Given the description of an element on the screen output the (x, y) to click on. 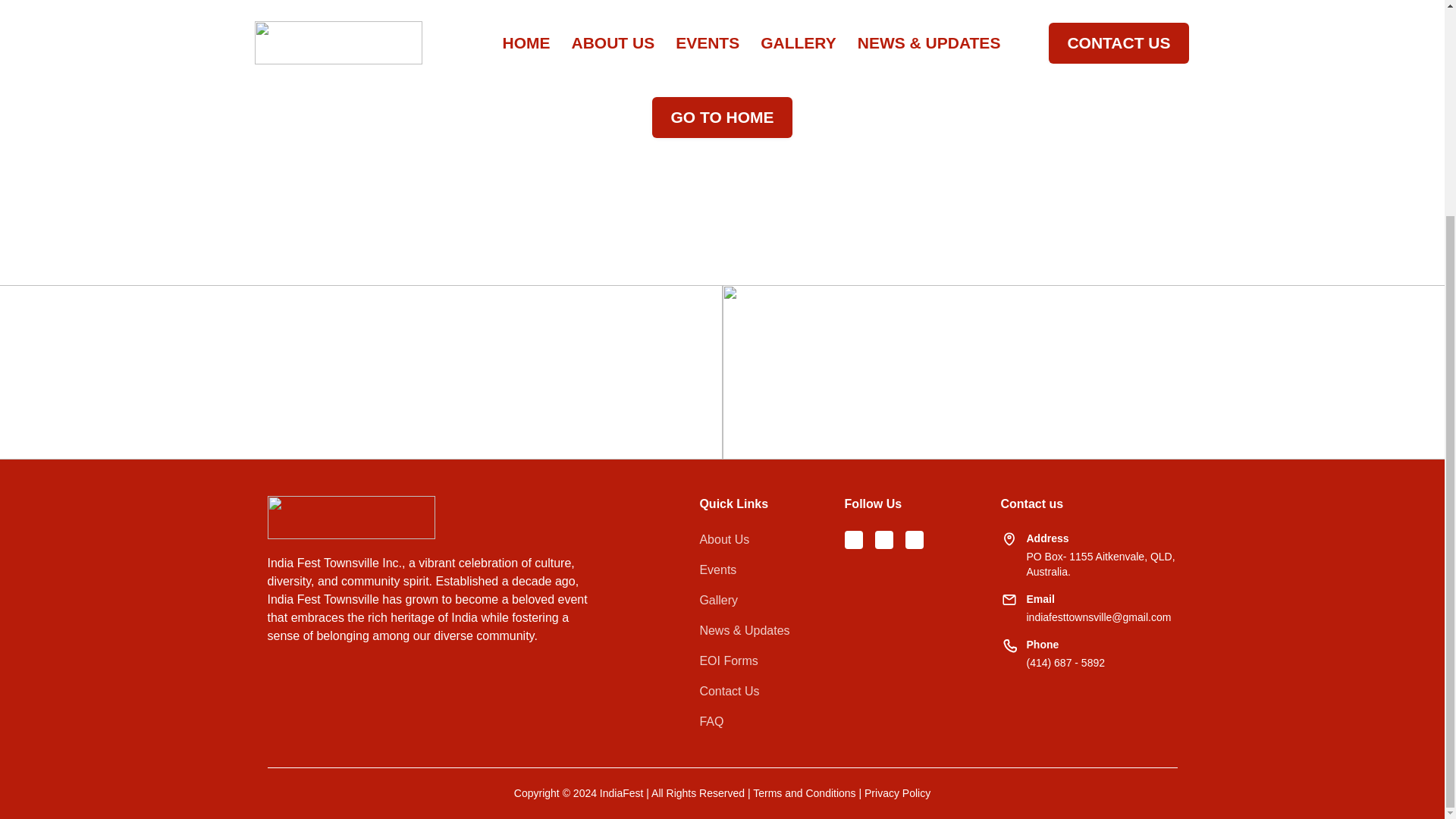
EOI Forms (727, 660)
Contact Us (728, 691)
GO TO HOME (722, 117)
Gallery (718, 600)
Events (717, 570)
About Us (723, 539)
FAQ (710, 721)
